Given the description of an element on the screen output the (x, y) to click on. 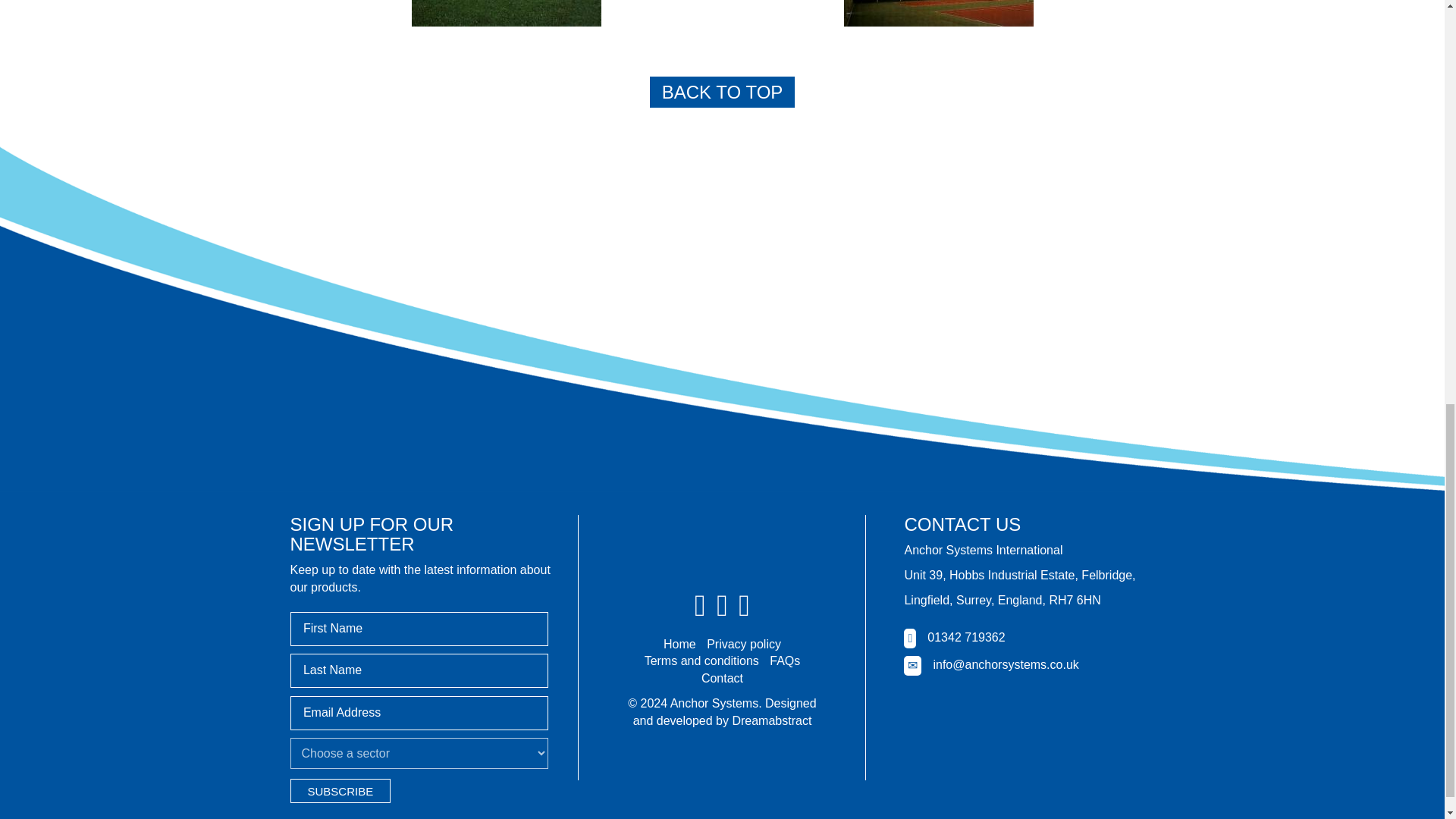
Subscribe (339, 790)
Email Address (418, 713)
First Name (418, 628)
Last Name (418, 670)
